Given the description of an element on the screen output the (x, y) to click on. 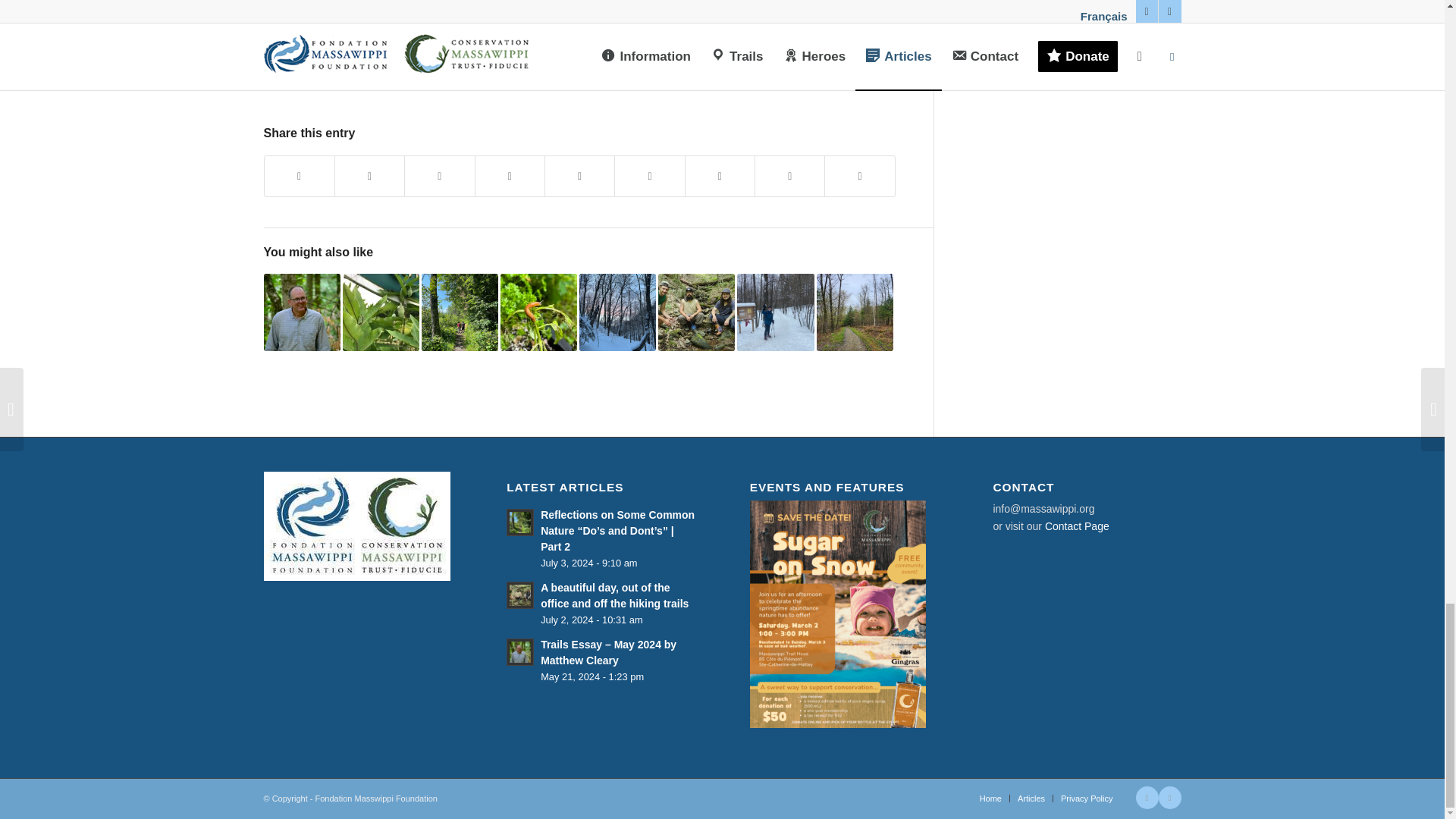
Pollinators need you. You need pollinators. (372, 2)
Pollinisateurs (303, 15)
